Given the description of an element on the screen output the (x, y) to click on. 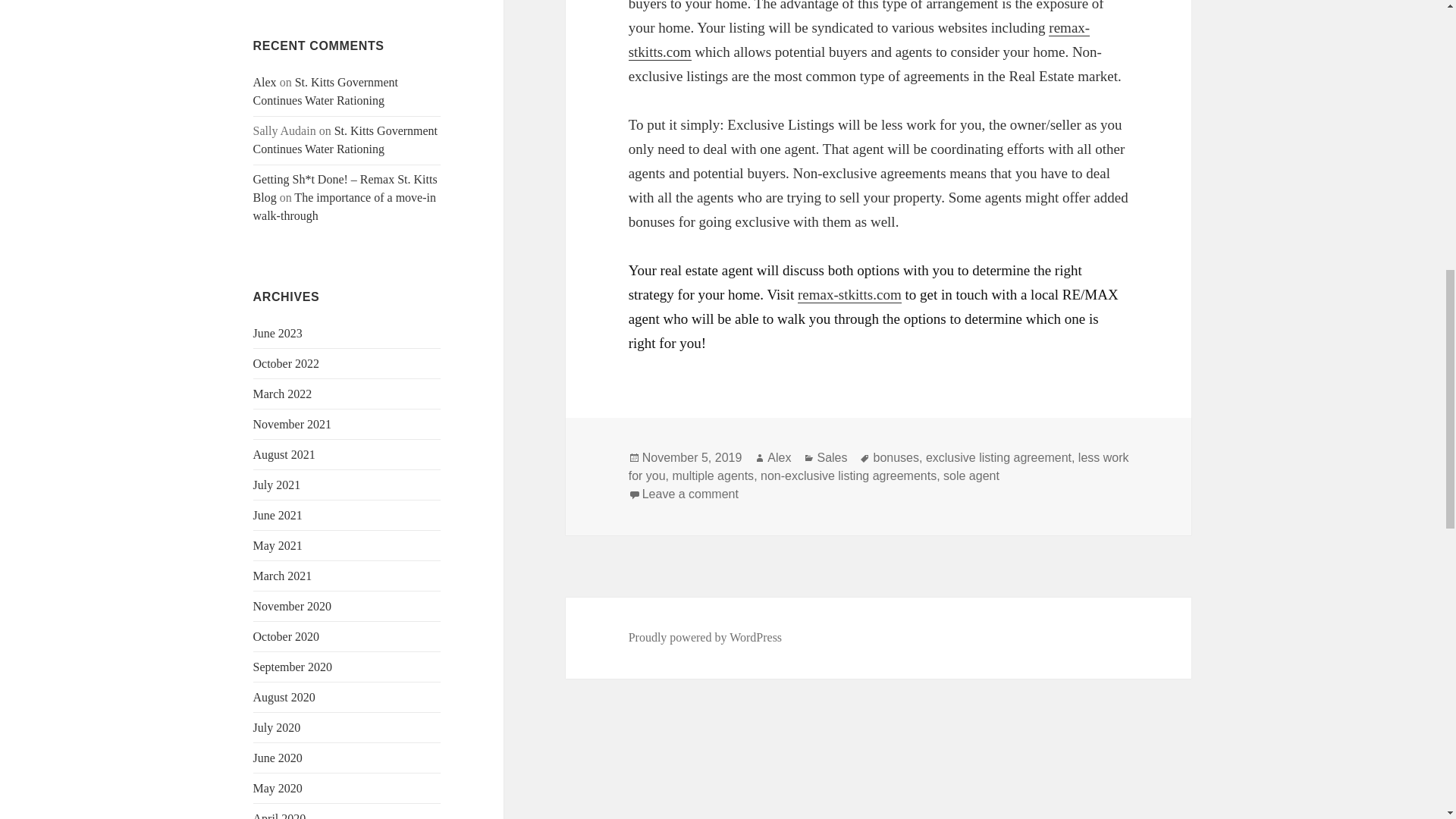
July 2021 (277, 484)
October 2020 (286, 635)
June 2023 (277, 332)
The importance of a move-in walk-through (344, 205)
St. Kitts Government Continues Water Rationing (325, 91)
March 2021 (283, 575)
St. Kitts Government Continues Water Rationing (345, 139)
August 2021 (284, 454)
Alex (264, 82)
July 2020 (277, 727)
November 2020 (292, 605)
November 2021 (292, 423)
June 2020 (277, 757)
October 2022 (286, 363)
September 2020 (292, 666)
